Given the description of an element on the screen output the (x, y) to click on. 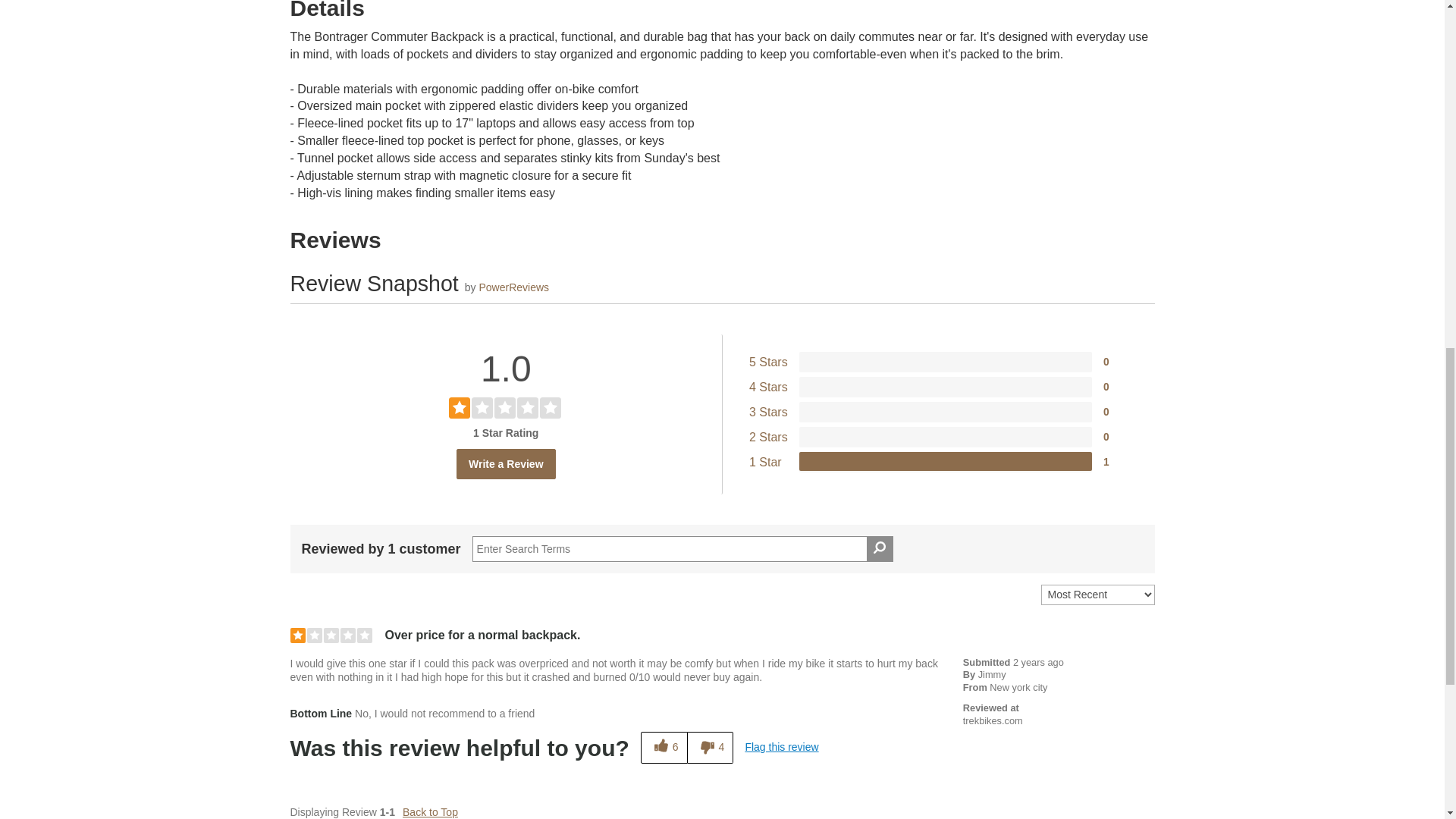
Trek US (992, 720)
